Given the description of an element on the screen output the (x, y) to click on. 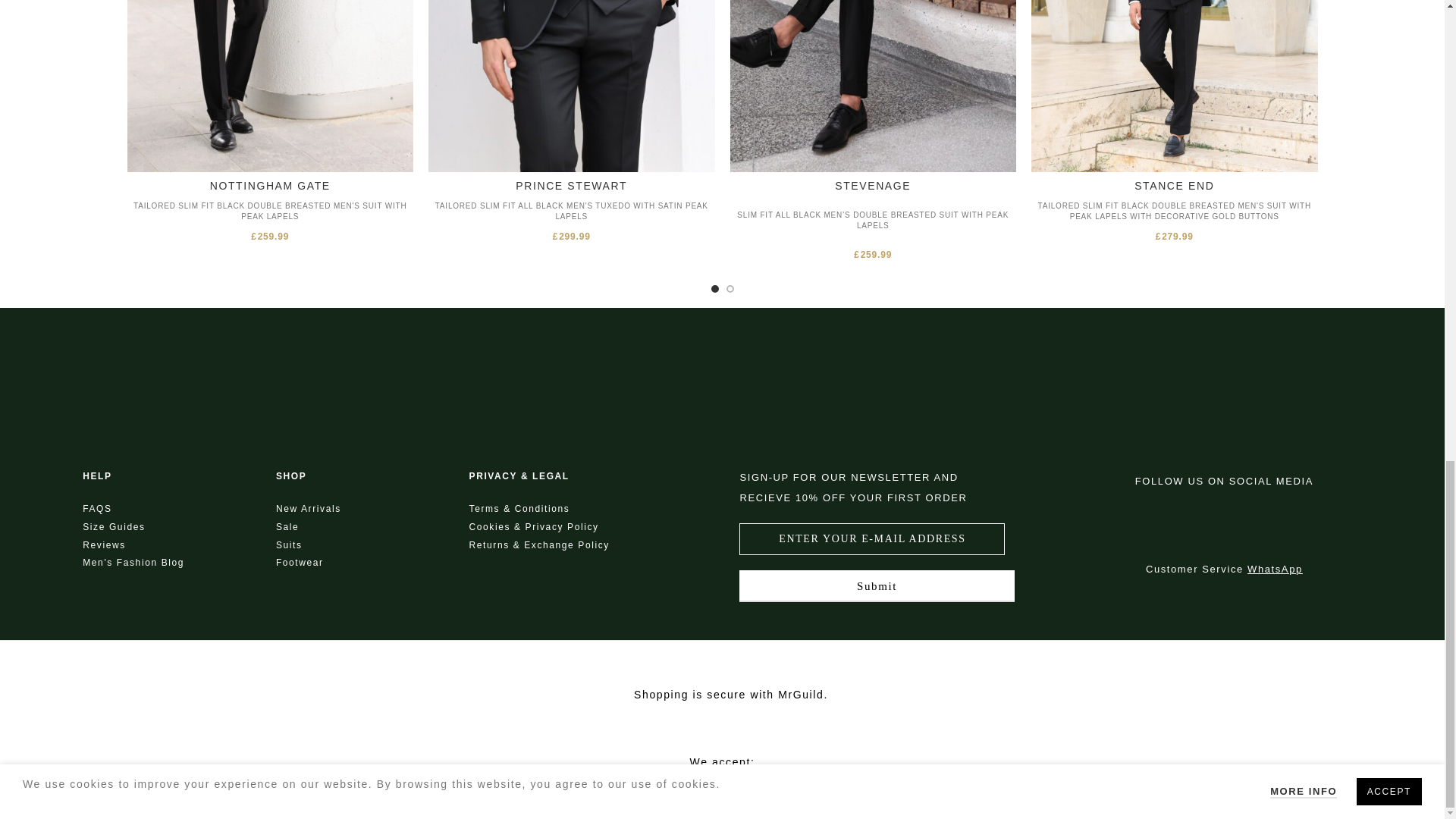
Submit (876, 585)
